Given the description of an element on the screen output the (x, y) to click on. 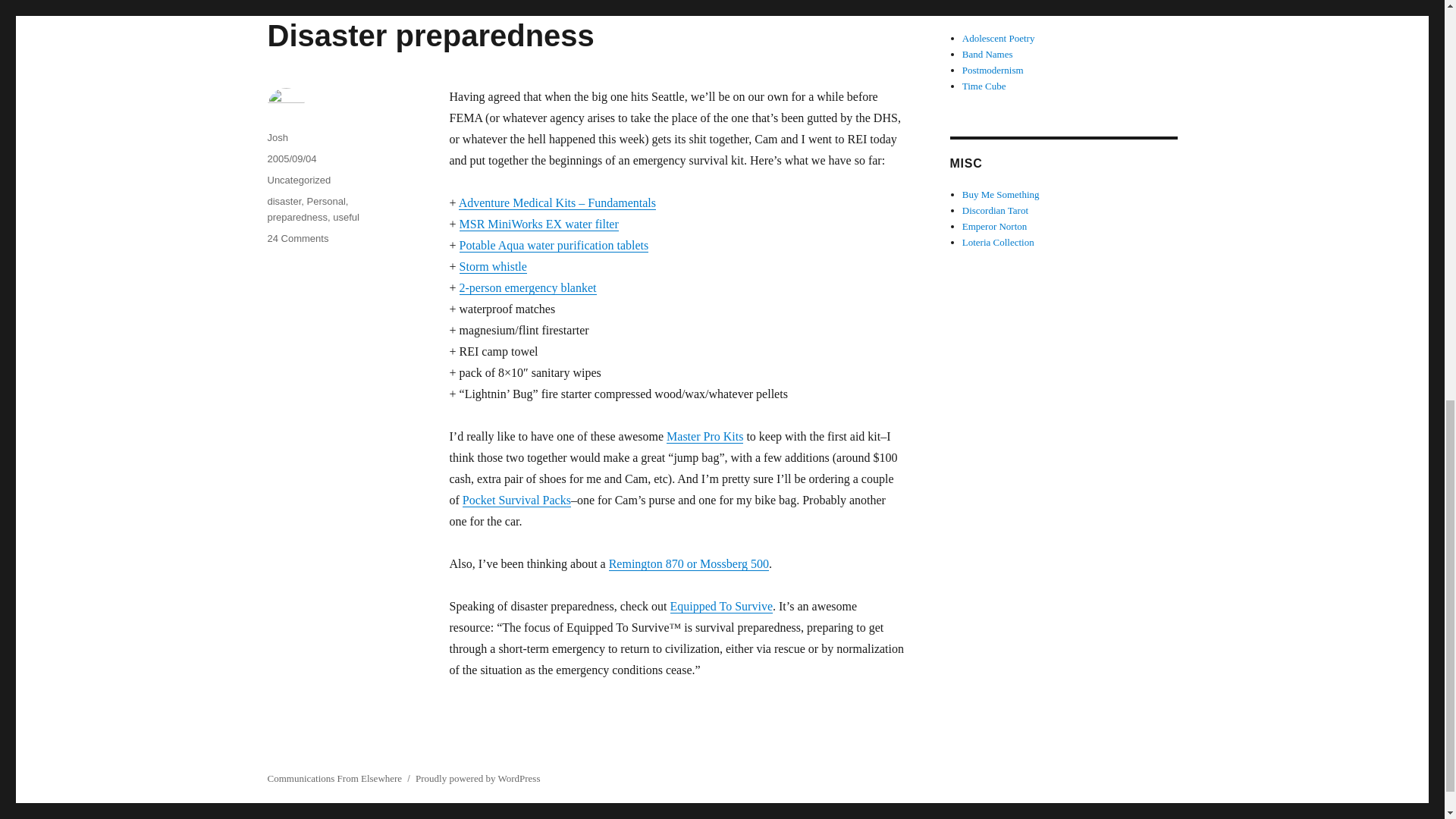
Equipped To Survive (721, 605)
Potable Aqua water purification tablets (554, 245)
Disaster preparedness (430, 35)
Josh (276, 137)
preparedness (297, 238)
Personal (296, 216)
Pocket Survival Packs (326, 201)
2-person emergency blanket (516, 499)
Remington 870 or Mossberg 500 (528, 287)
